Given the description of an element on the screen output the (x, y) to click on. 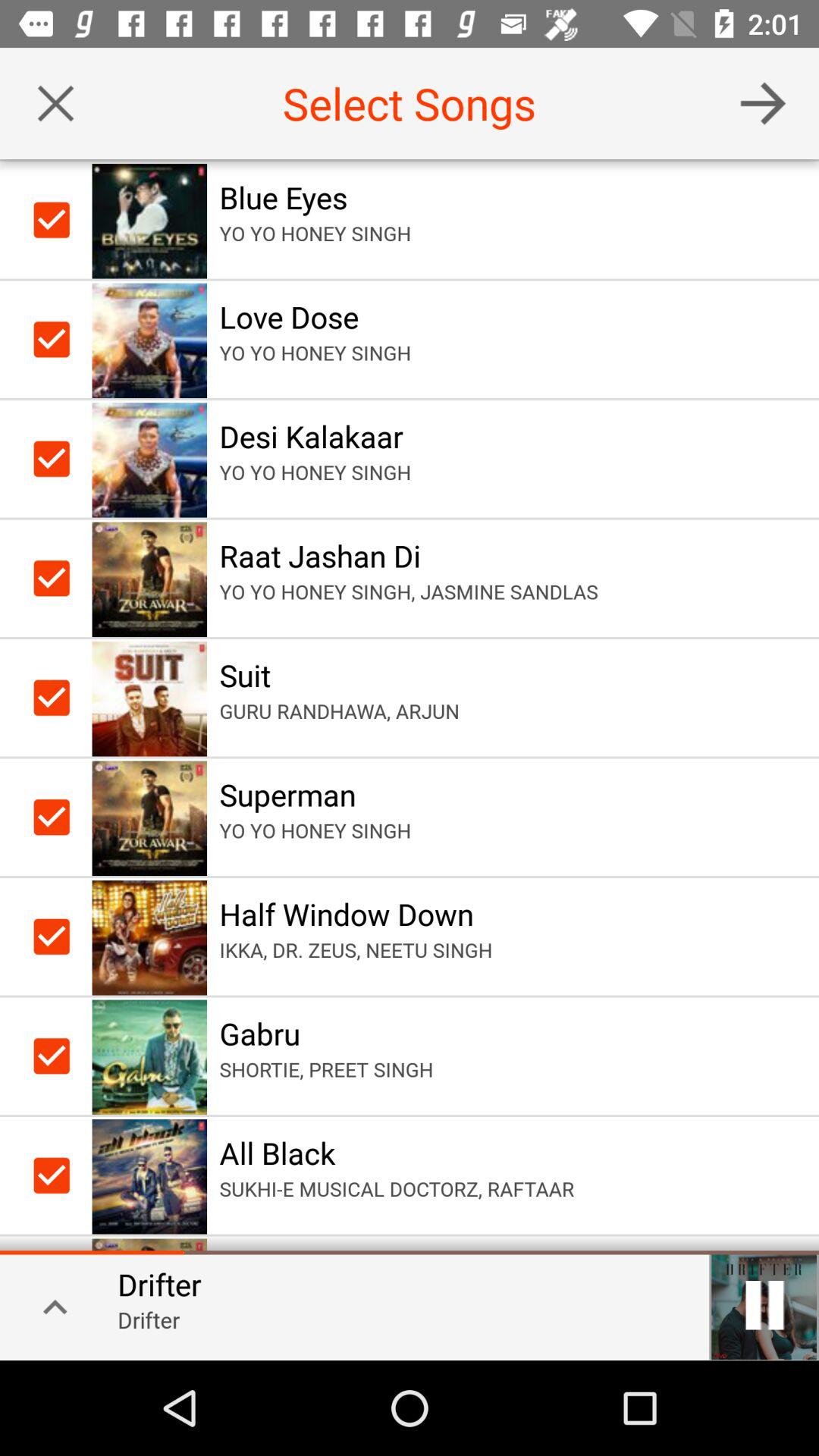
pauses the current song (764, 1304)
